Given the description of an element on the screen output the (x, y) to click on. 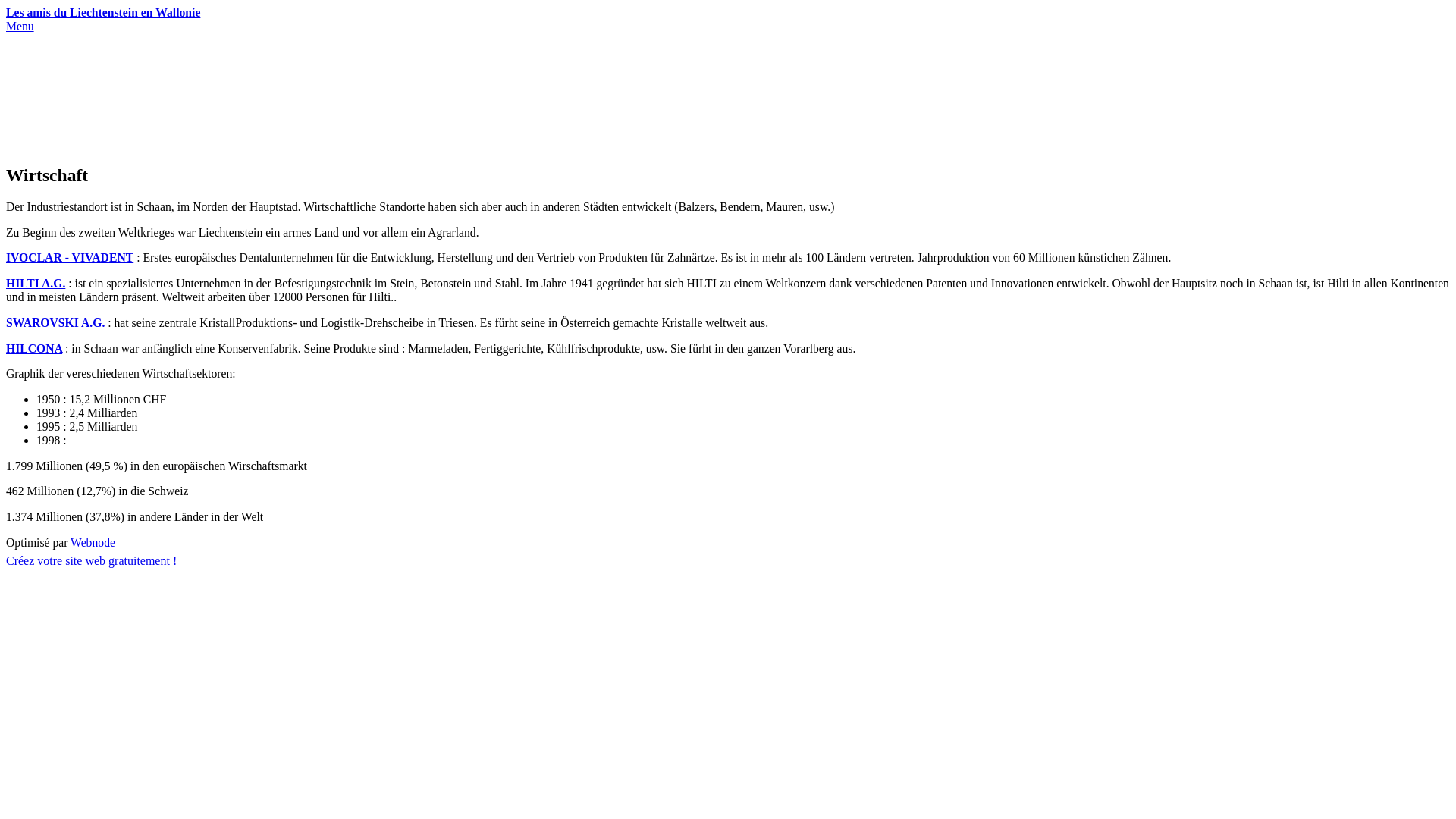
HILCONA Element type: text (34, 347)
Les amis du Liechtenstein en Wallonie Element type: text (727, 12)
HILTI A.G. Element type: text (35, 282)
Webnode Element type: text (92, 542)
SWAROVSKI A.G. Element type: text (56, 322)
IVOCLAR - VIVADENT Element type: text (69, 257)
Menu Element type: text (20, 25)
